Given the description of an element on the screen output the (x, y) to click on. 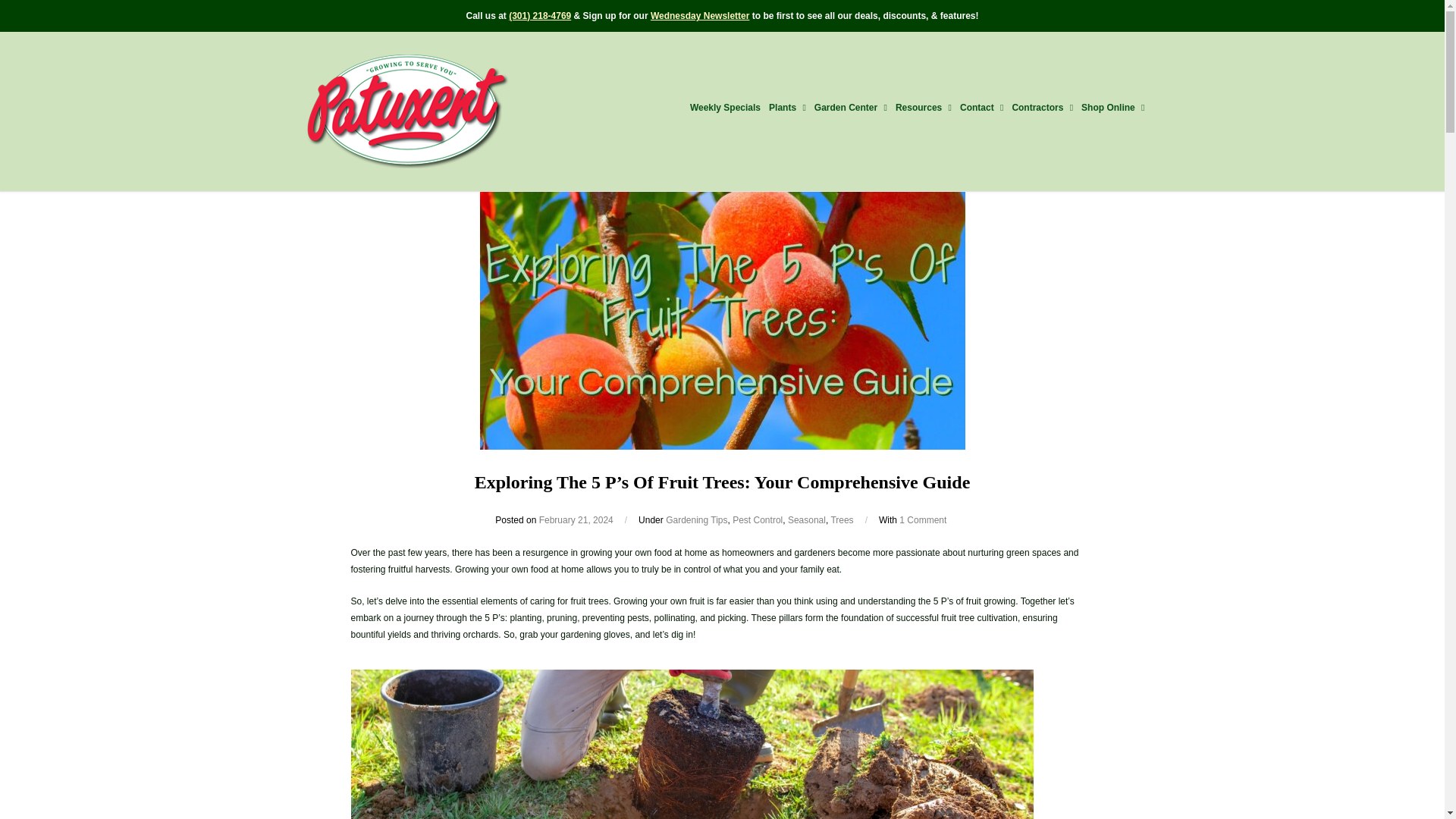
Contractors (1042, 107)
Plants (787, 107)
Resources (923, 107)
Gardening Tips (695, 520)
Planting A Tree (691, 744)
Pest Control (757, 520)
Wednesday Newsletter (699, 15)
Contact (981, 107)
Seasonal (806, 520)
Trees (841, 520)
Weekly Specials (725, 107)
Garden Center (850, 107)
